Given the description of an element on the screen output the (x, y) to click on. 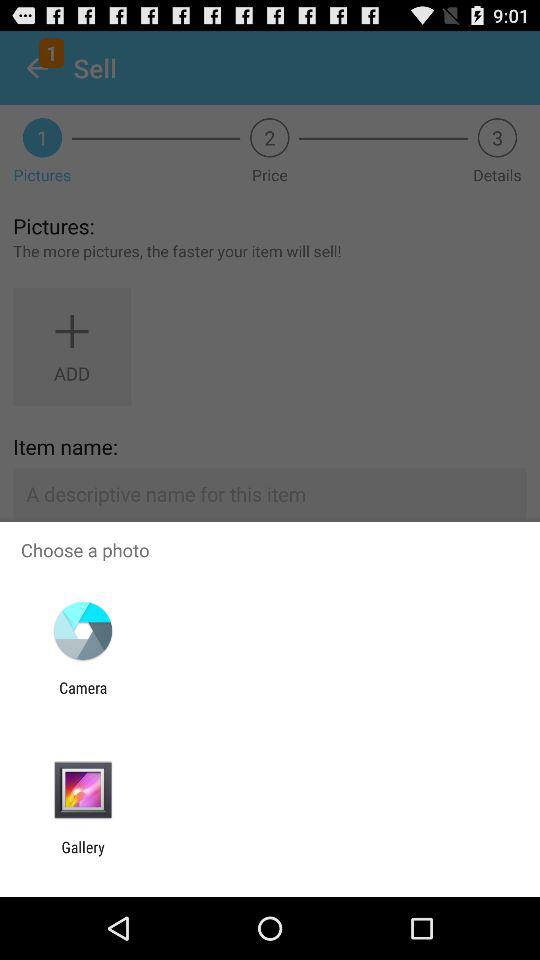
open camera app (83, 696)
